Given the description of an element on the screen output the (x, y) to click on. 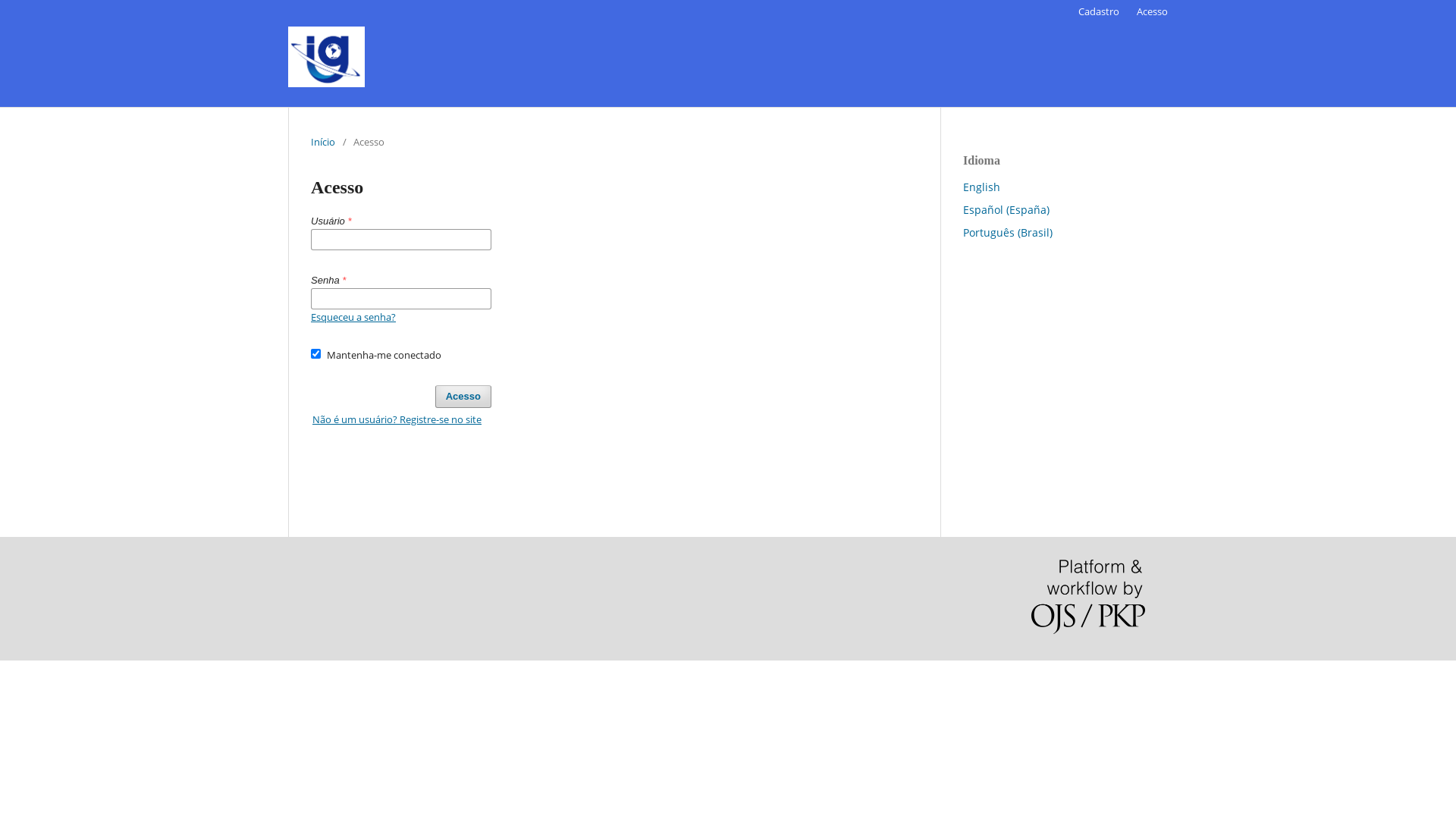
Acesso Element type: text (463, 396)
Cadastro Element type: text (1098, 11)
Esqueceu a senha? Element type: text (352, 316)
Acesso Element type: text (1152, 11)
English Element type: text (981, 186)
